Given the description of an element on the screen output the (x, y) to click on. 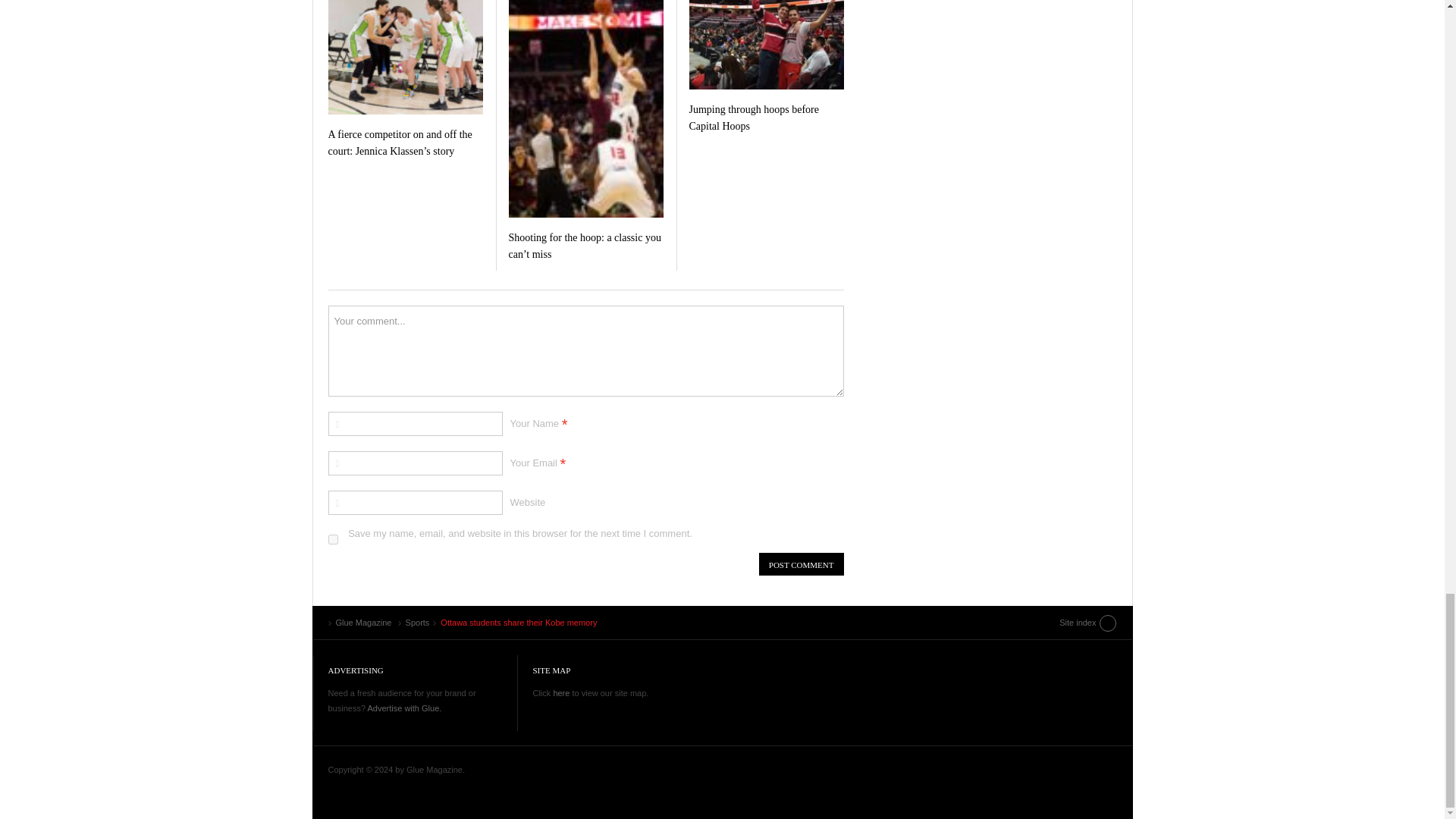
Post Comment (801, 563)
yes (332, 539)
